Given the description of an element on the screen output the (x, y) to click on. 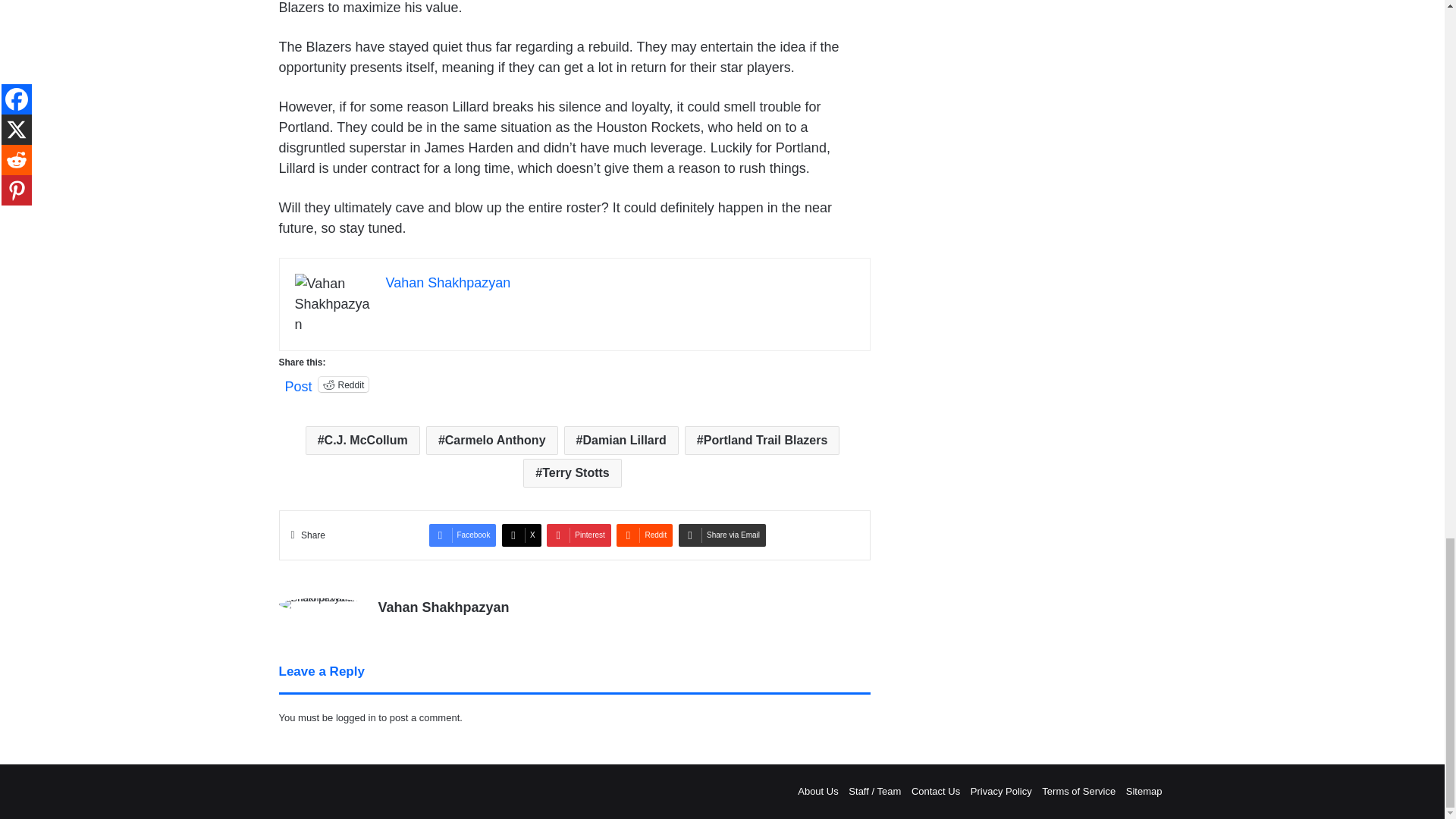
C.J. McCollum (362, 440)
Post (299, 383)
Portland Trail Blazers (762, 440)
Damian Lillard (621, 440)
Terry Stotts (571, 472)
Vahan Shakhpazyan (448, 282)
Carmelo Anthony (491, 440)
Reddit (343, 384)
Click to share on Reddit (343, 384)
